Given the description of an element on the screen output the (x, y) to click on. 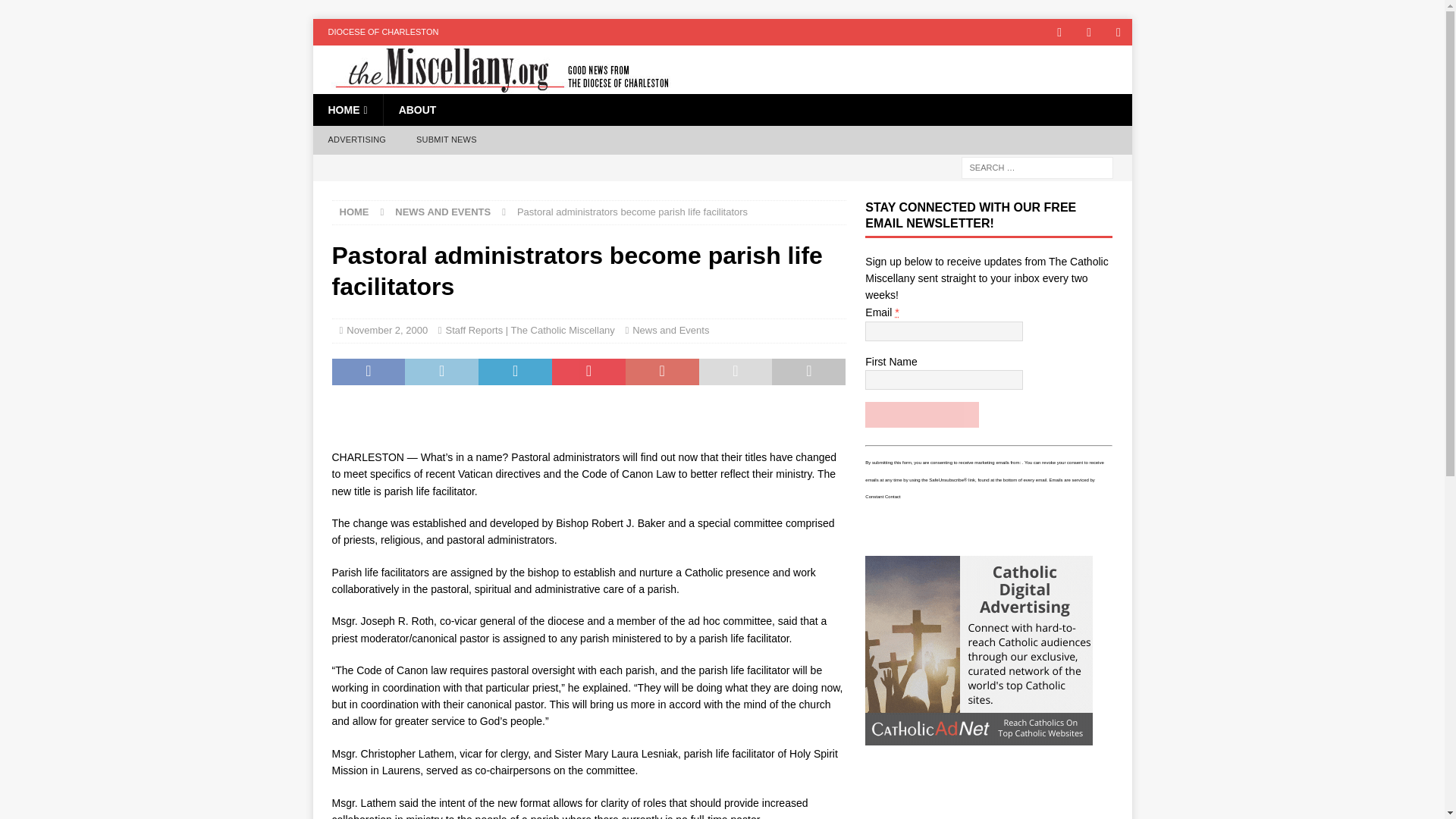
HOME (354, 211)
News and Events (670, 329)
Join today! (921, 414)
DIOCESE OF CHARLESTON (382, 31)
ABOUT (416, 110)
HOME (347, 110)
ADVERTISING (357, 140)
Join today! (921, 414)
The Catholic Miscellany (492, 85)
SUBMIT NEWS (446, 140)
Search (56, 11)
NEWS AND EVENTS (442, 211)
November 2, 2000 (387, 329)
